Given the description of an element on the screen output the (x, y) to click on. 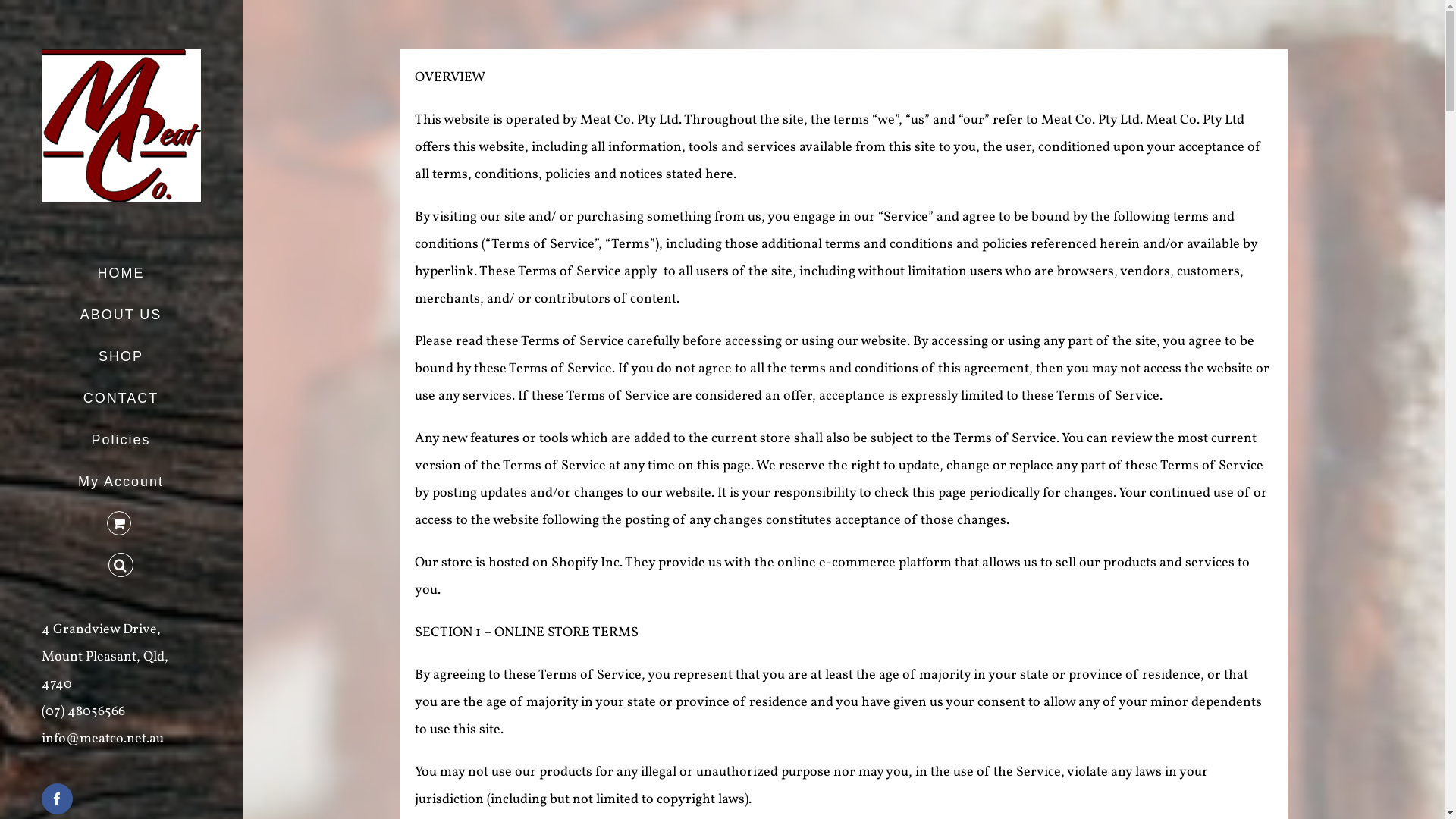
HOME Element type: text (120, 272)
info@meatco.net.au Element type: text (102, 738)
ABOUT US Element type: text (120, 314)
Log In Element type: text (340, 605)
My Account Element type: text (120, 481)
CONTACT Element type: text (120, 398)
SHOP Element type: text (120, 356)
Policies Element type: text (120, 440)
Search Element type: hover (120, 565)
(07) 48056566 Element type: text (83, 711)
Facebook Element type: text (56, 798)
